Given the description of an element on the screen output the (x, y) to click on. 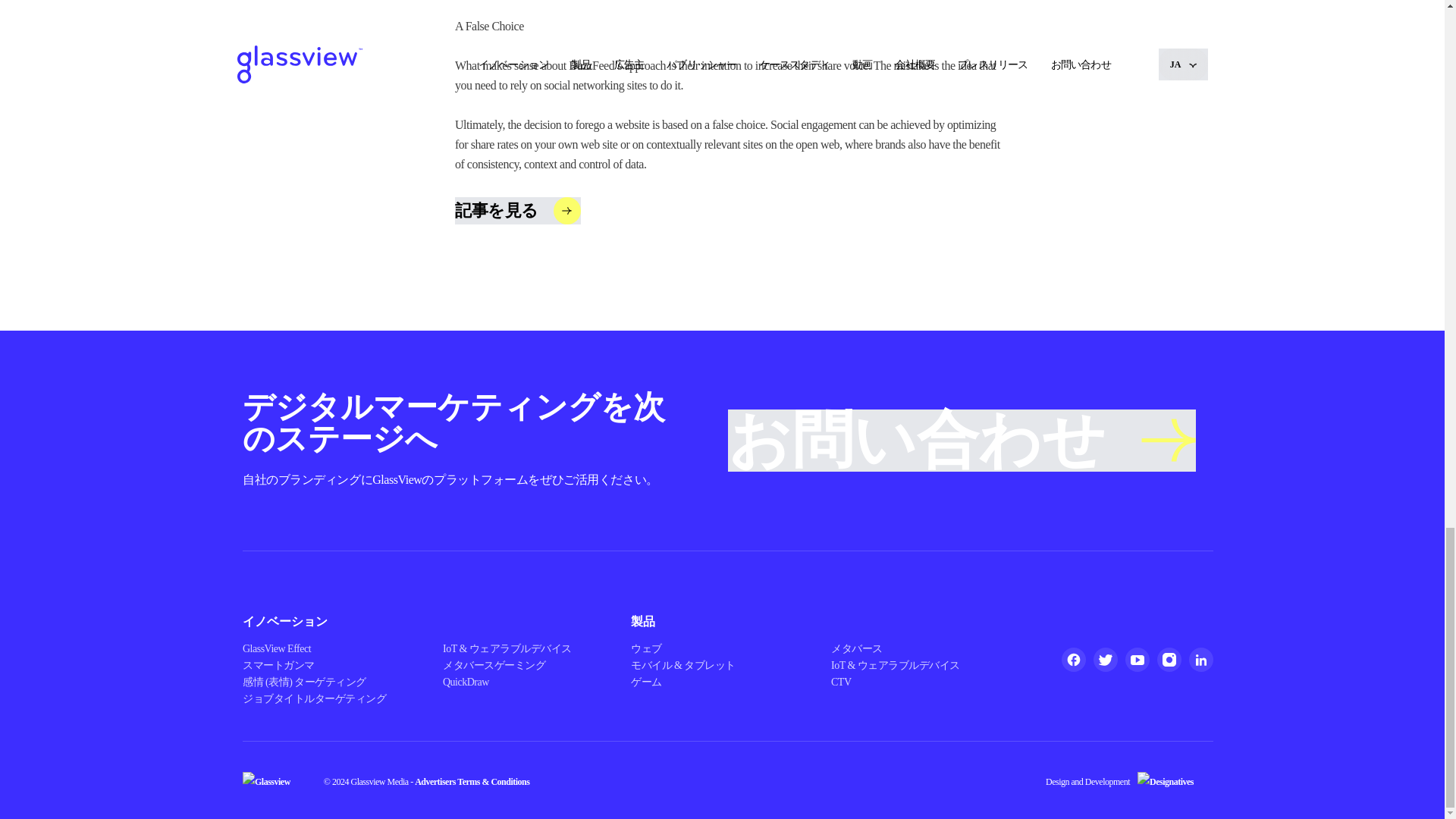
GlassView Effect (277, 648)
QuickDraw (465, 681)
CTV (841, 681)
